Given the description of an element on the screen output the (x, y) to click on. 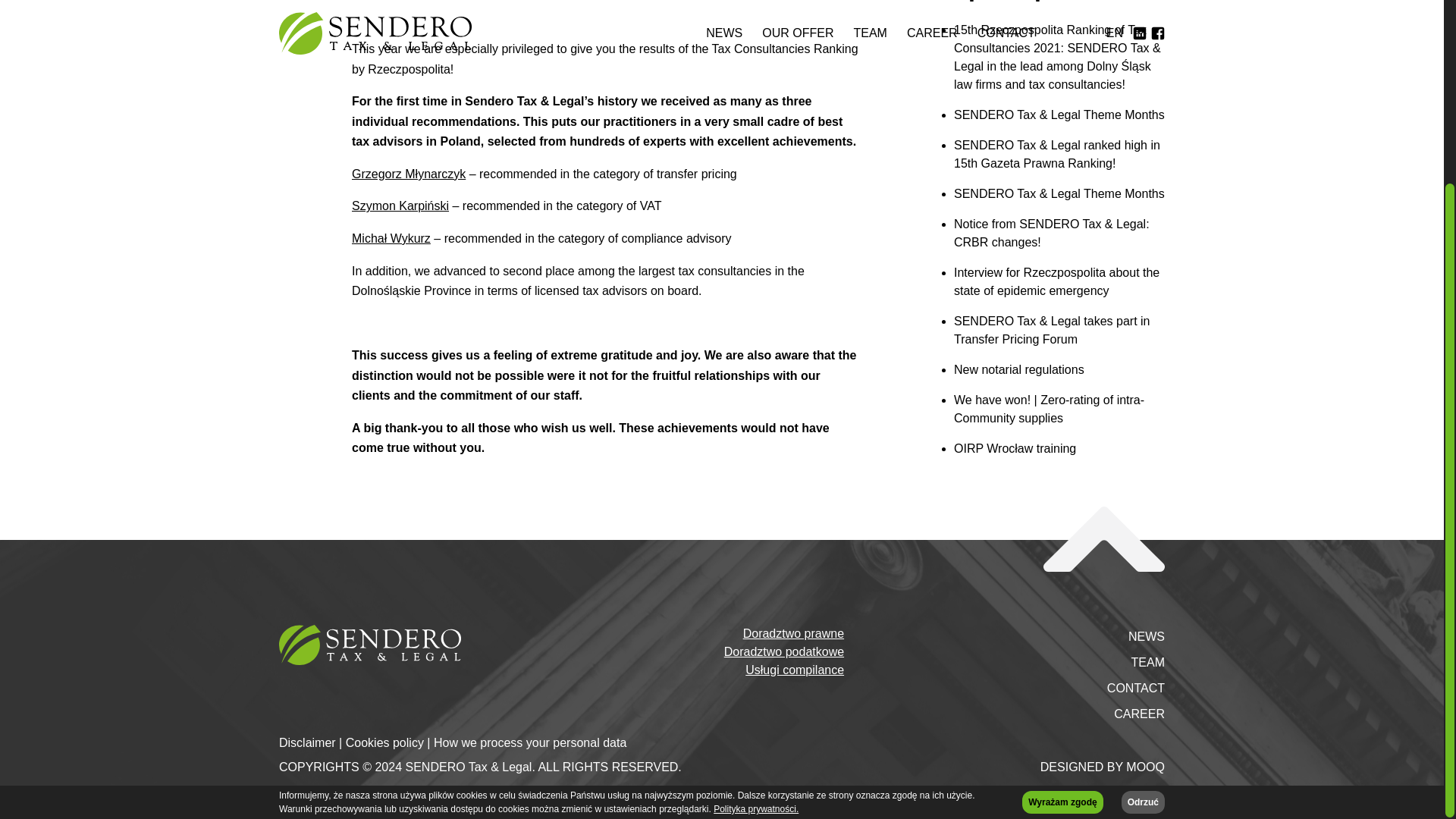
New notarial regulations (1058, 369)
NEWS (1146, 636)
Cookies policy (389, 742)
CAREER (1138, 713)
CONTACT (1135, 688)
Doradztwo prawne (793, 633)
TEAM (1147, 662)
Disclaimer (312, 742)
Doradztwo podatkowe (783, 651)
